Given the description of an element on the screen output the (x, y) to click on. 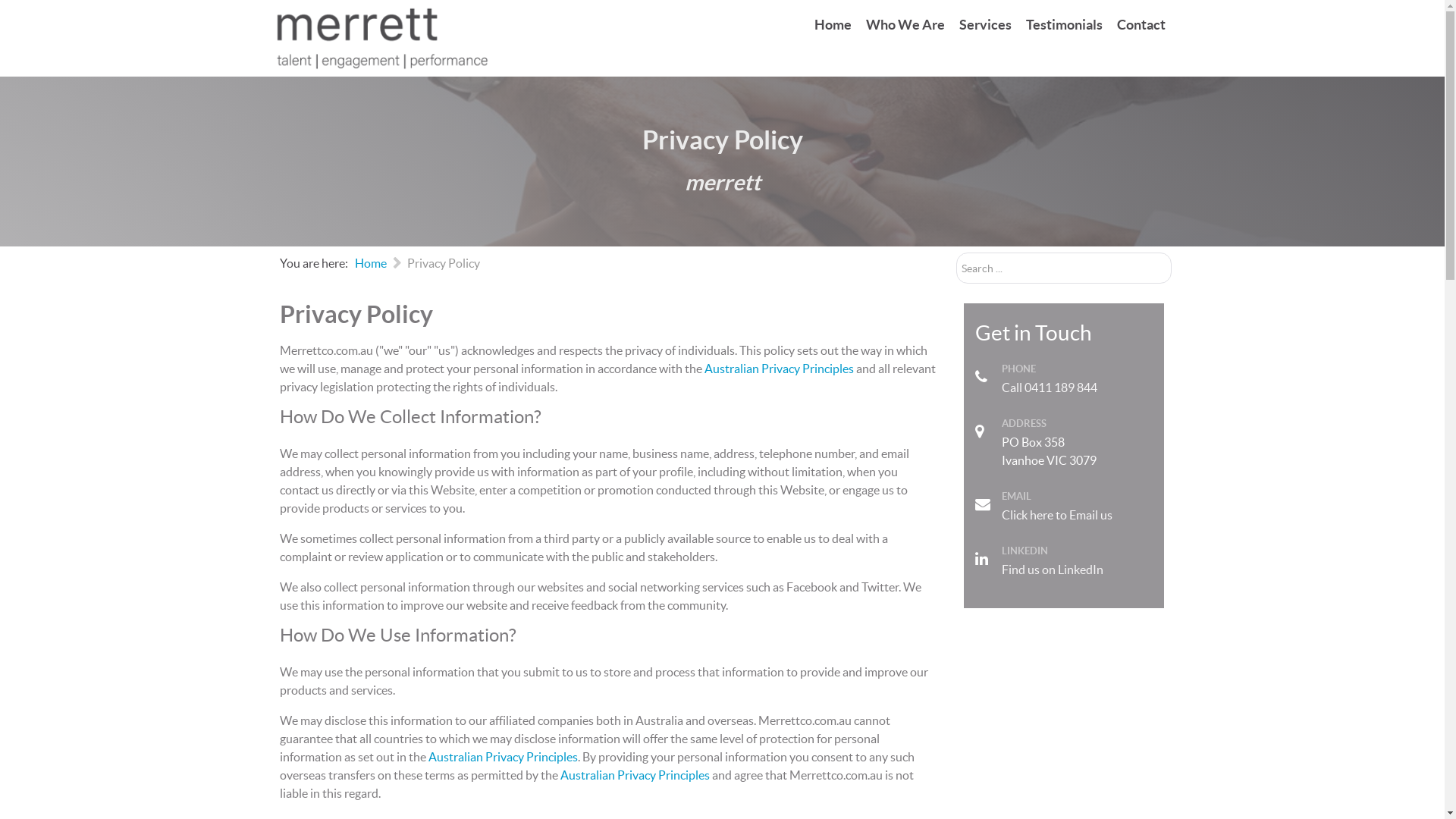
Australian Privacy Principles Element type: text (502, 756)
Services Element type: text (984, 25)
Who We Are Element type: text (905, 25)
Find us on LinkedIn Element type: text (1051, 569)
Contact Element type: text (1140, 25)
Testimonials Element type: text (1063, 25)
Australian Privacy Principles Element type: text (634, 774)
Home Element type: text (832, 25)
Home Element type: text (370, 263)
Australian Privacy Principles Element type: text (778, 368)
Click here to Email us Element type: text (1056, 514)
Call 0411 189 844 Element type: text (1048, 387)
